Given the description of an element on the screen output the (x, y) to click on. 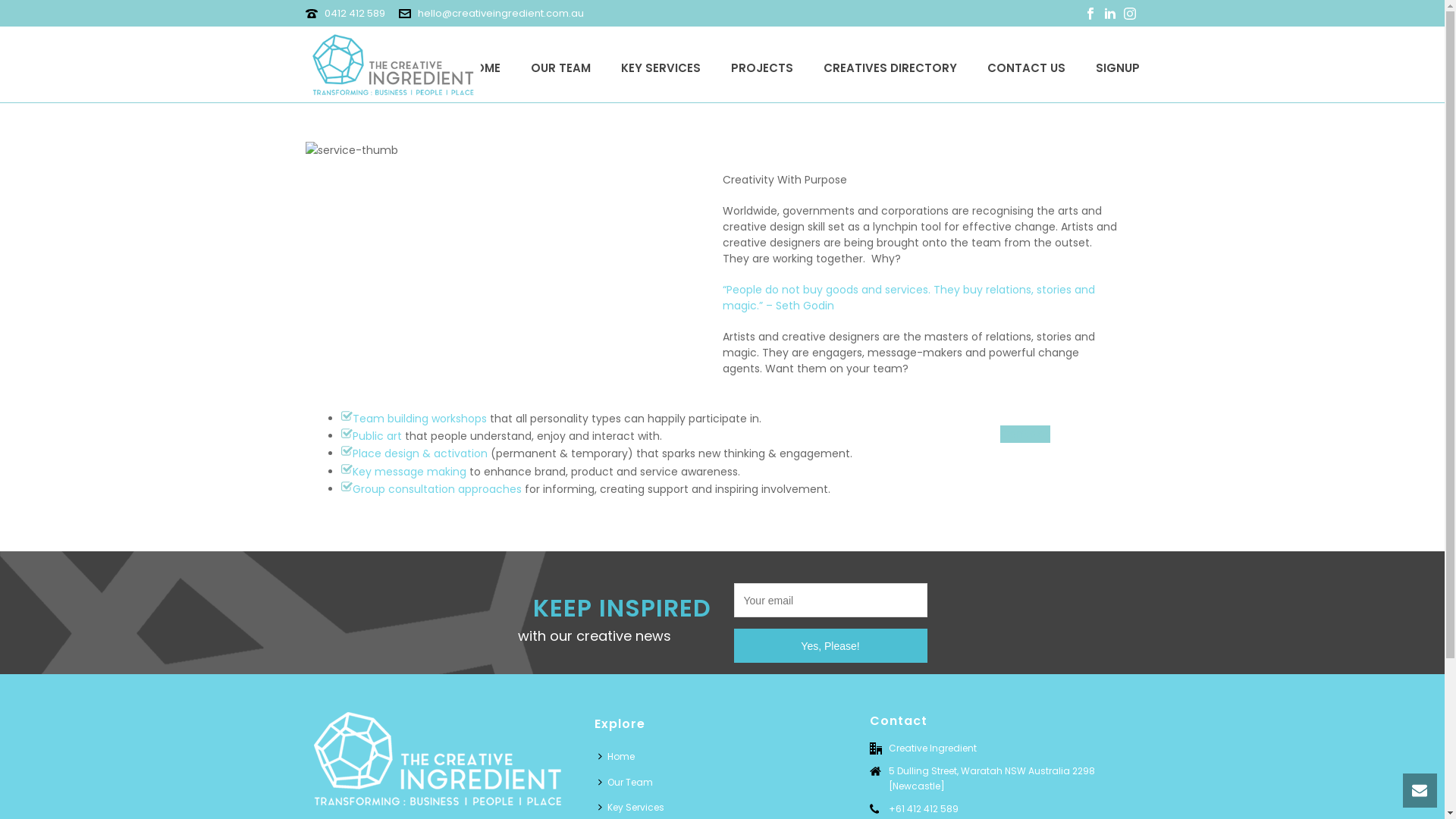
HOME Element type: text (482, 64)
OUR TEAM Element type: text (560, 64)
Home Element type: text (620, 755)
+61 412 412 589 Element type: text (923, 808)
SIGNUP Element type: text (1116, 64)
hello@creativeingredient.com.au Element type: text (500, 13)
service-thumb Element type: hover (350, 150)
PROJECTS Element type: text (761, 64)
Yes, Please! Element type: text (830, 645)
CONTACT US Element type: text (1026, 64)
KEY SERVICES Element type: text (660, 64)
Contact Element type: text (1025, 433)
Our Team Element type: text (629, 781)
0412 412 589 Element type: text (354, 13)
CREATIVES DIRECTORY Element type: text (890, 64)
